Given the description of an element on the screen output the (x, y) to click on. 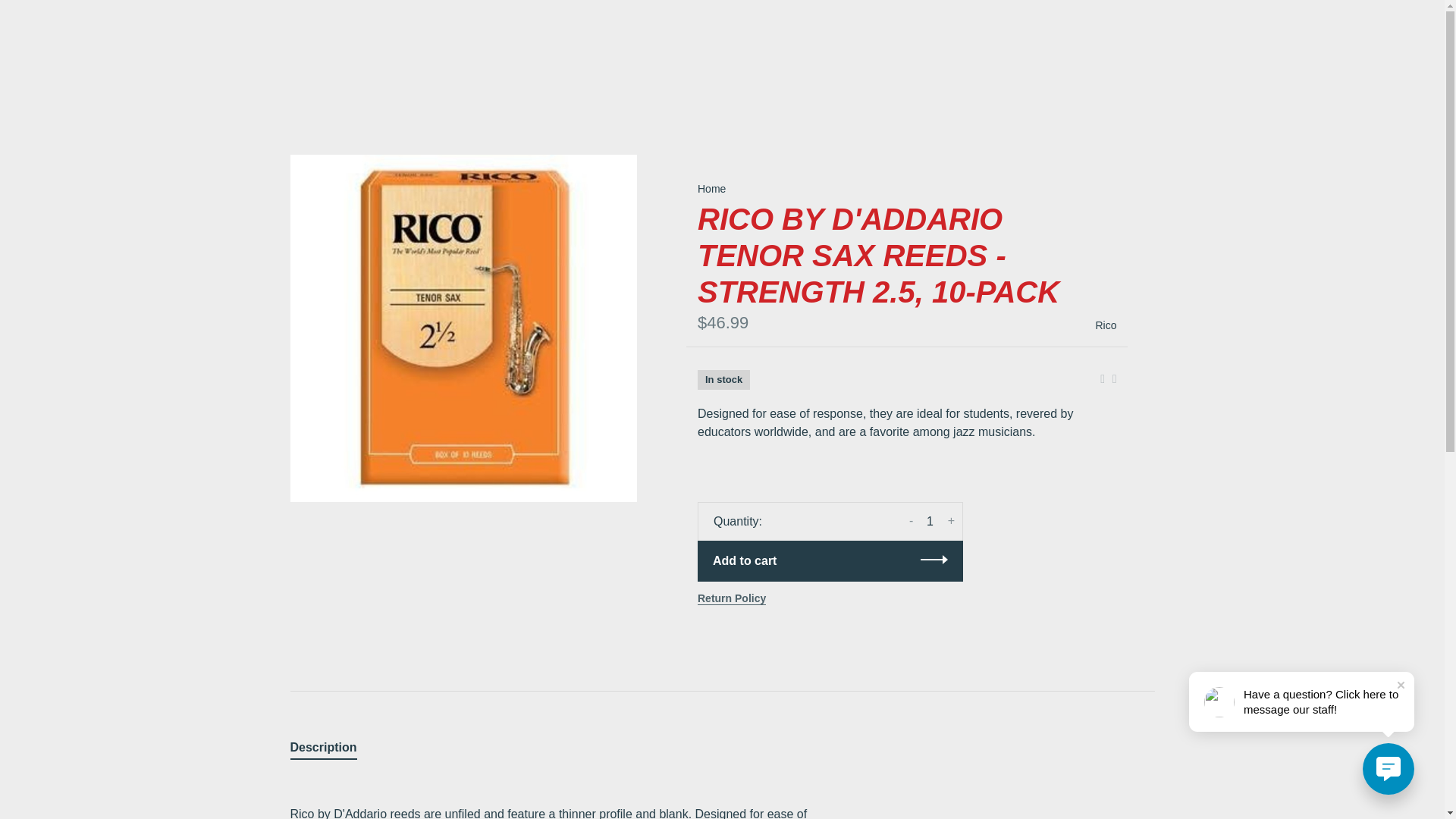
1 (929, 521)
